Given the description of an element on the screen output the (x, y) to click on. 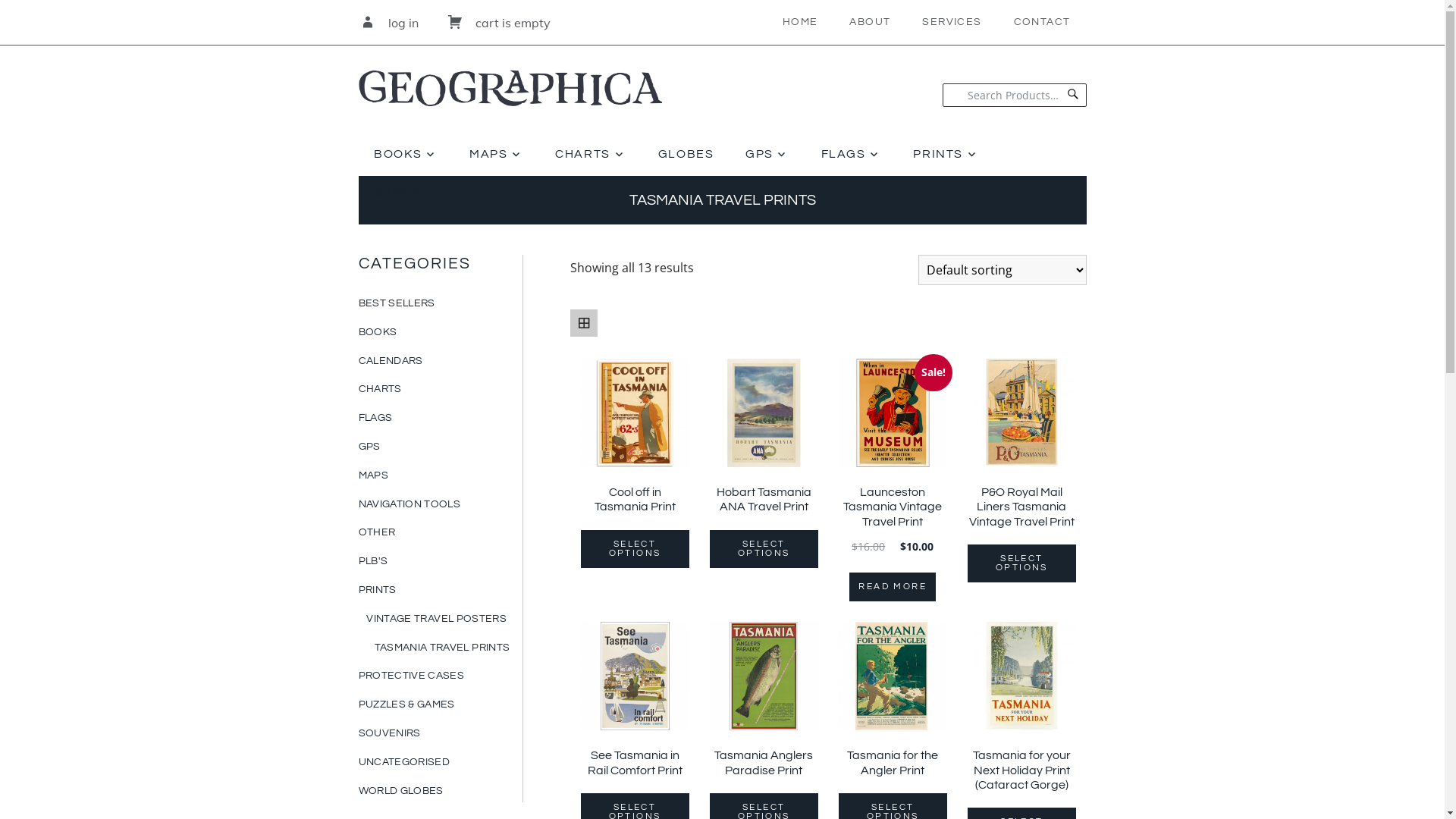
NAVIGATION TOOLS Element type: text (408, 503)
log in Element type: text (388, 22)
FLAGS Element type: text (851, 153)
VINTAGE TRAVEL POSTERS Element type: text (436, 618)
MAPS Element type: text (372, 475)
SELECT OPTIONS Element type: text (763, 548)
Tasmania for your Next Holiday Print (Cataract Gorge) Element type: text (1021, 709)
BOOKS Element type: text (405, 153)
SOUVENIRS Element type: text (388, 733)
GLOBES Element type: text (685, 153)
GPS Element type: text (767, 153)
cart is empty Element type: text (497, 22)
OTHER Element type: text (376, 532)
PRINTS Element type: text (945, 153)
Search Element type: hover (1072, 94)
CHARTS Element type: text (379, 388)
PUZZLES & GAMES Element type: text (405, 704)
Return to homepage Element type: hover (509, 75)
PROTECTIVE CASES Element type: text (410, 675)
BEST SELLERS Element type: text (395, 303)
WORLD GLOBES Element type: text (399, 790)
OTHER Element type: text (404, 192)
P&O Royal Mail Liners Tasmania Vintage Travel Print Element type: text (1021, 446)
UNCATEGORISED Element type: text (403, 761)
READ MORE Element type: text (892, 586)
TASMANIA TRAVEL PRINTS Element type: text (442, 647)
Tasmania for the Angler Print Element type: text (892, 702)
SELECT OPTIONS Element type: text (634, 548)
SELECT OPTIONS Element type: text (1021, 563)
Tasmania Anglers Paradise Print Element type: text (763, 702)
GPS Element type: text (368, 446)
HOME Element type: text (800, 22)
PLB'S Element type: text (372, 560)
FLAGS Element type: text (374, 417)
Hobart Tasmania ANA Travel Print Element type: text (763, 439)
MAPS Element type: text (496, 153)
Cool off in Tasmania Print Element type: text (634, 439)
ABOUT Element type: text (869, 22)
Grid view Element type: hover (583, 322)
BOOKS Element type: text (376, 331)
Sale!
Launceston Tasmania Vintage Travel Print
$16.00 $10.00 Element type: text (892, 458)
SERVICES Element type: text (951, 22)
CONTACT Element type: text (1041, 22)
PRINTS Element type: text (376, 589)
See Tasmania in Rail Comfort Print Element type: text (634, 702)
CALENDARS Element type: text (389, 360)
CHARTS Element type: text (590, 153)
